Given the description of an element on the screen output the (x, y) to click on. 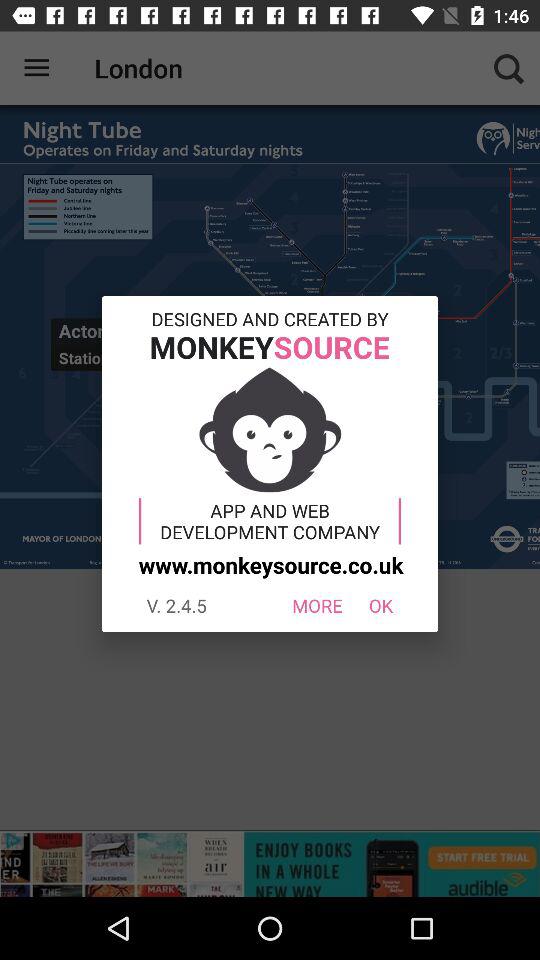
scroll until the ok item (380, 605)
